Given the description of an element on the screen output the (x, y) to click on. 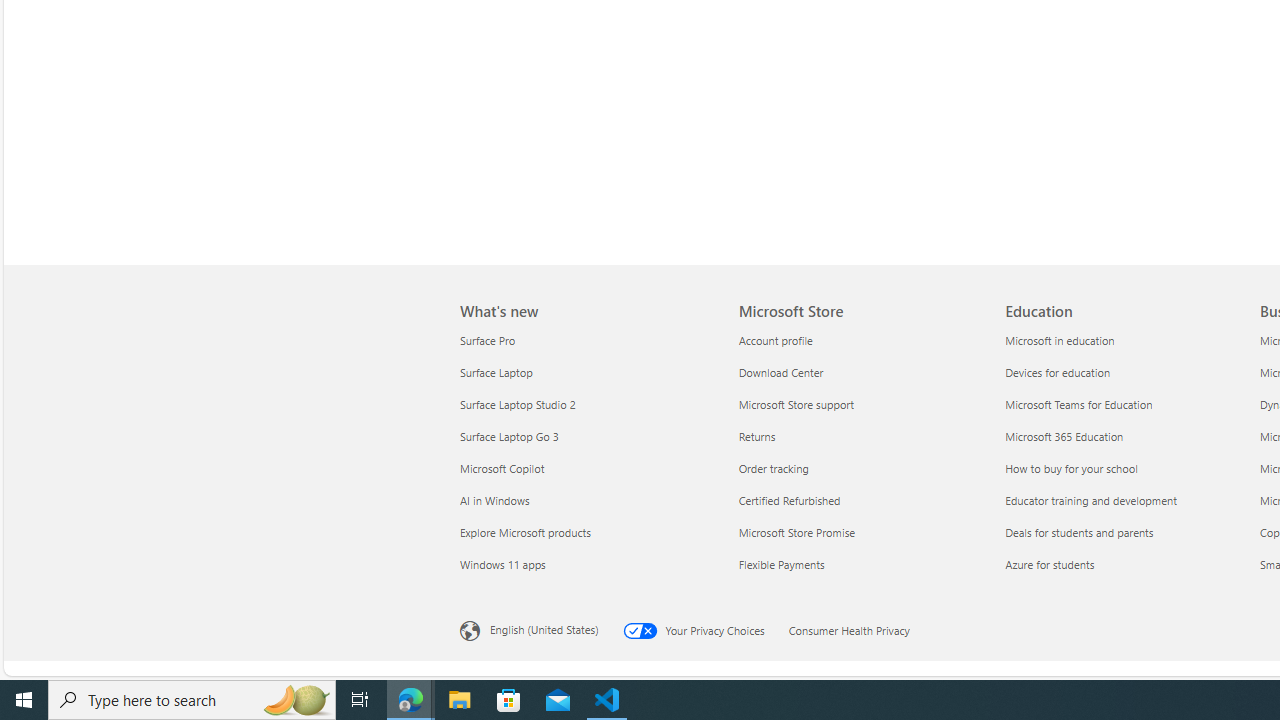
Microsoft Teams for Education Education (1078, 403)
Explore Microsoft products (587, 532)
Windows 11 apps What's new (502, 563)
Devices for education (1126, 371)
Surface Laptop (587, 371)
Microsoft Store support Microsoft Store (795, 403)
Deals for students and parents Education (1079, 532)
Microsoft Copilot What's new (502, 467)
Microsoft in education Education (1059, 339)
Educator training and development Education (1090, 499)
Microsoft 365 Education Education (1063, 435)
Order tracking (859, 468)
Your Privacy Choices Opt-Out Icon Your Privacy Choices (705, 628)
How to buy for your school Education (1070, 467)
